Given the description of an element on the screen output the (x, y) to click on. 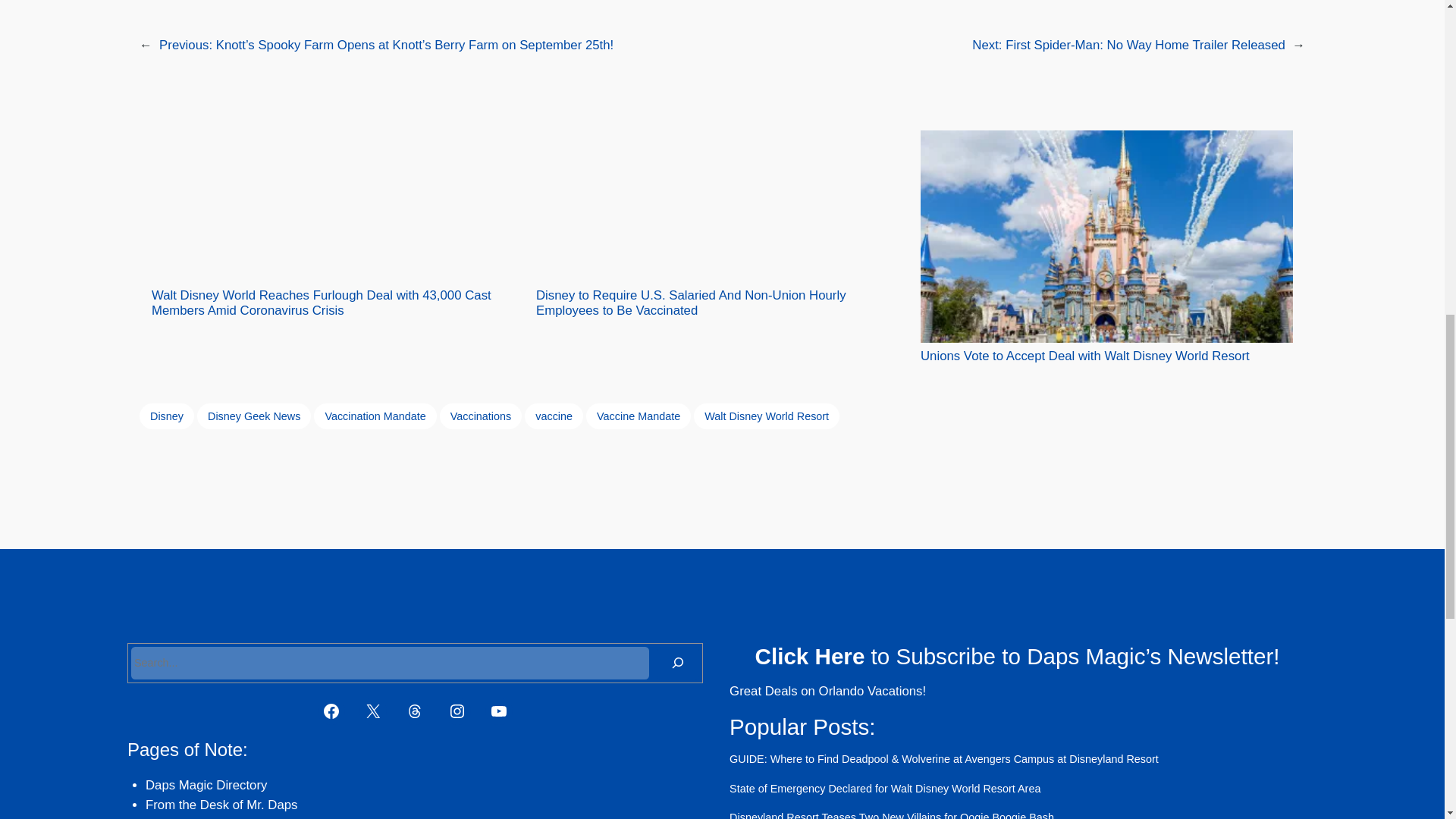
Next: First Spider-Man: No Way Home Trailer Released (1128, 44)
Disney (166, 416)
Disney Geek News (253, 416)
Vaccination Mandate (374, 416)
Unions Vote to Accept Deal with Walt Disney World Resort (1106, 247)
vaccine (553, 416)
Vaccinations (480, 416)
